Given the description of an element on the screen output the (x, y) to click on. 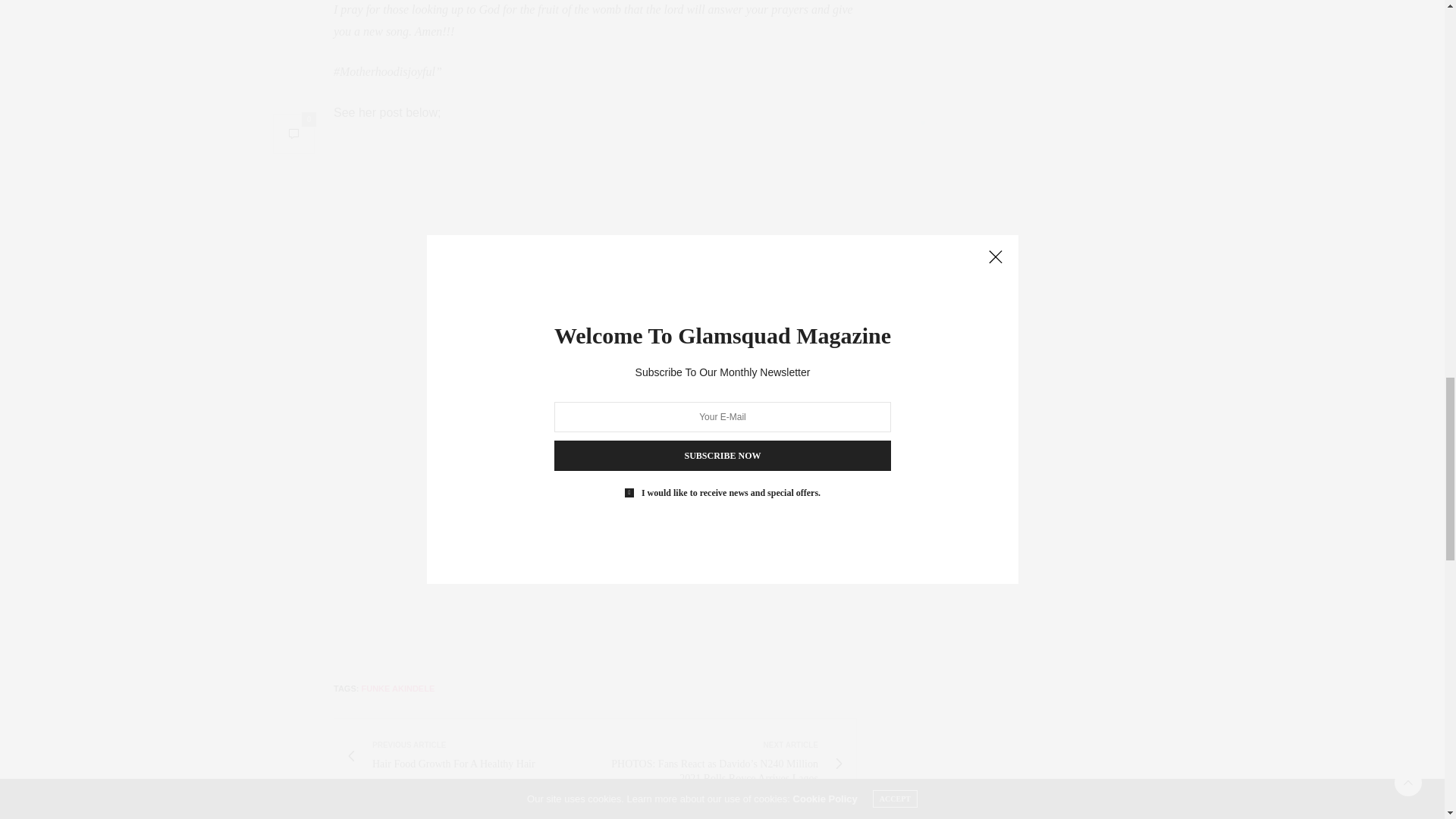
FUNKE AKINDELE (469, 757)
